Given the description of an element on the screen output the (x, y) to click on. 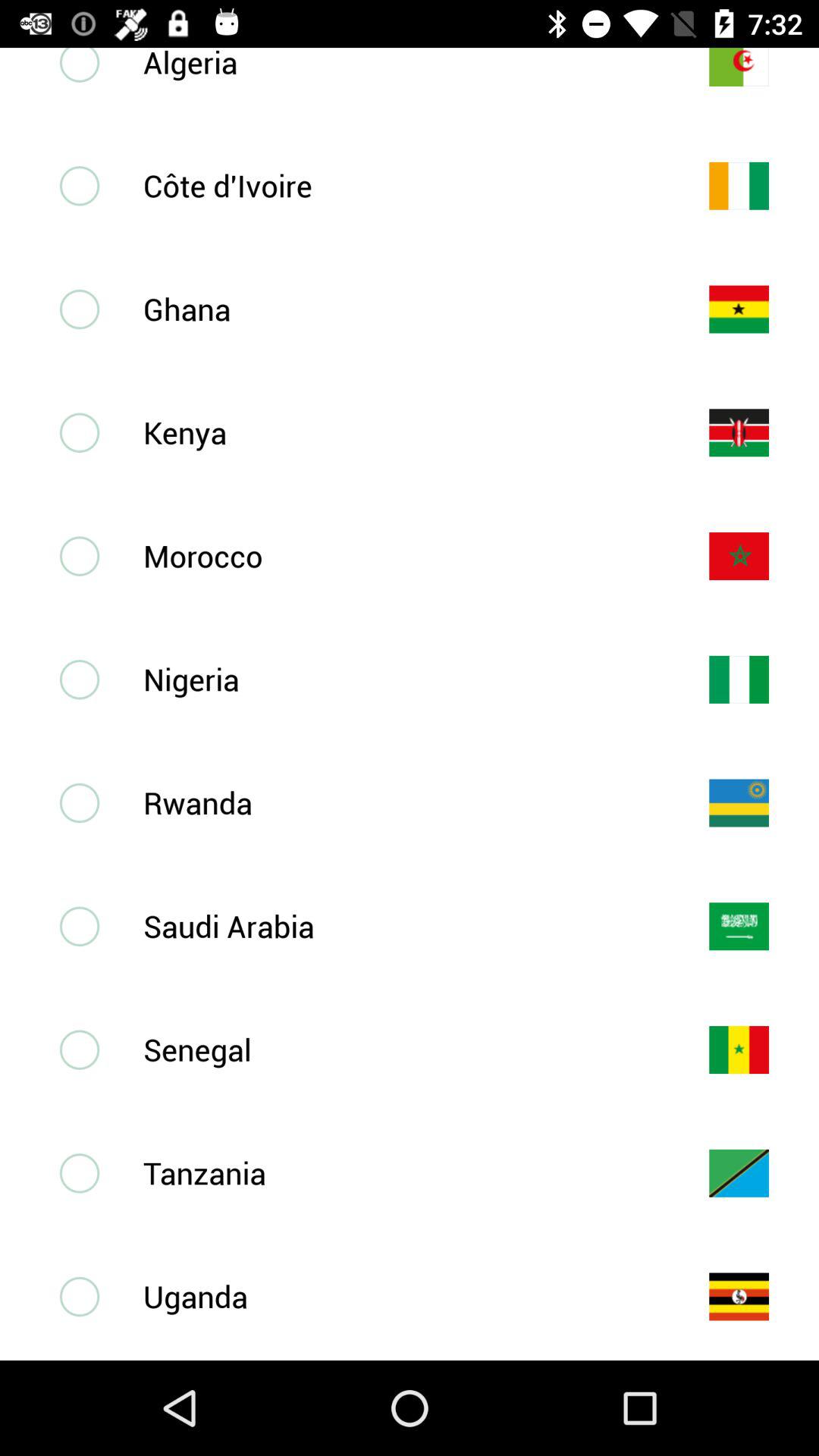
tap uganda icon (401, 1296)
